Given the description of an element on the screen output the (x, y) to click on. 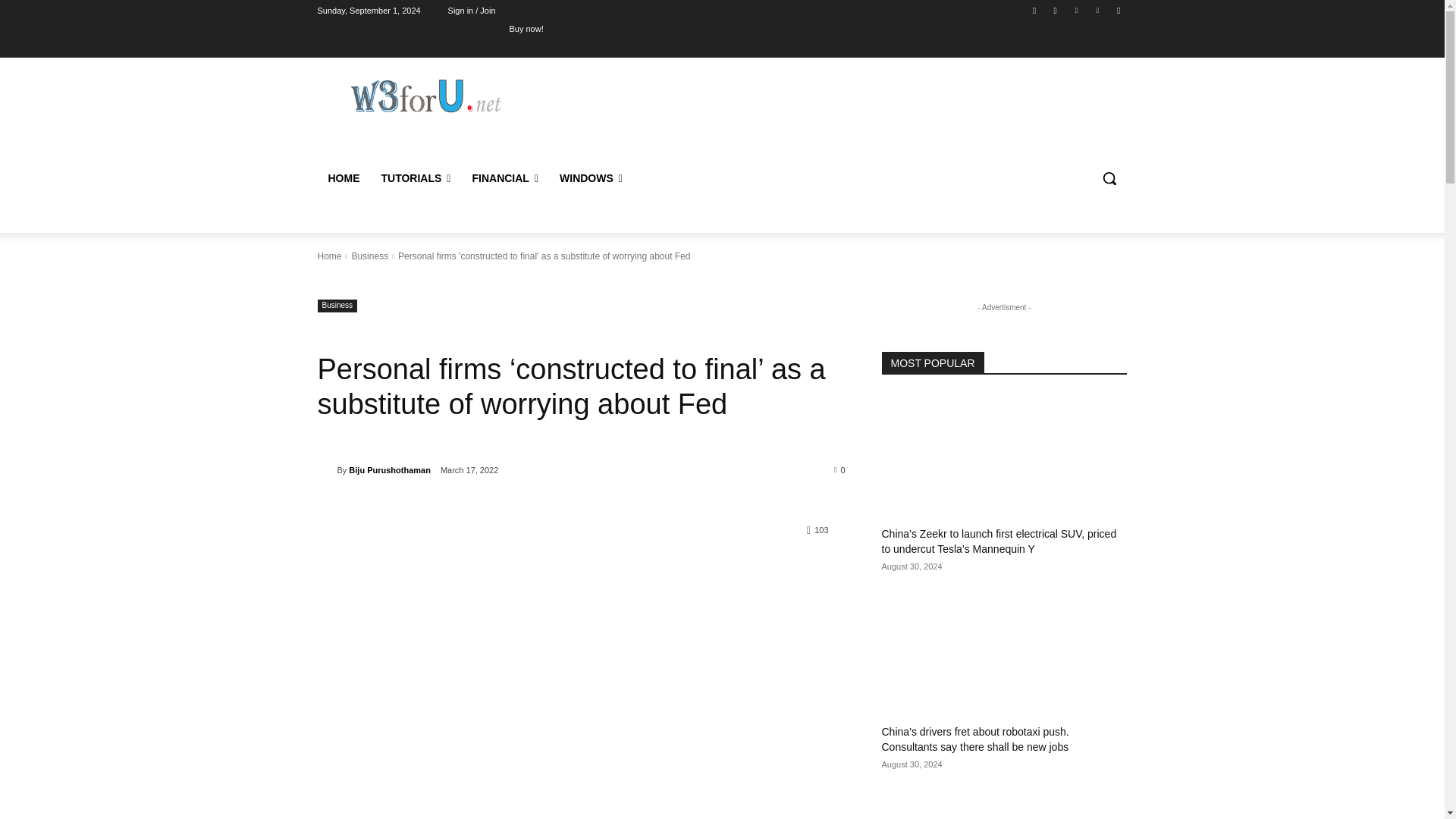
Instagram (1055, 9)
TUTORIALS (415, 177)
Vimeo (1097, 9)
Youtube (1117, 9)
Twitter (1075, 9)
HOME (343, 177)
Buy now! (525, 28)
Facebook (1034, 9)
